Given the description of an element on the screen output the (x, y) to click on. 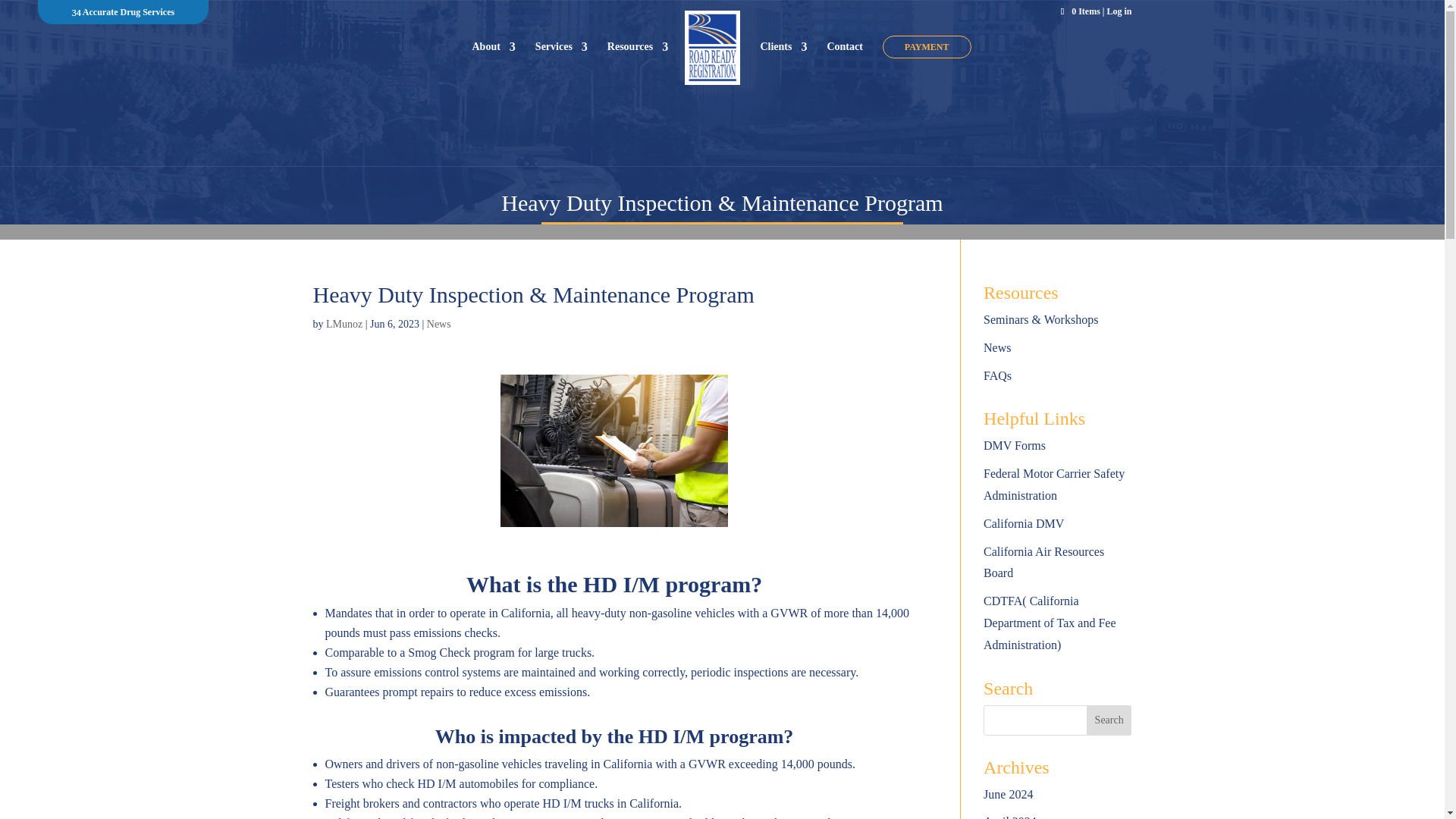
Services (561, 74)
0 Items (1081, 10)
Log in (1118, 10)
About (493, 74)
PAYMENT (926, 47)
Resources (637, 74)
Posts by LMunoz (344, 324)
Clients (783, 74)
Search (1109, 720)
Contact (844, 74)
Accurate Drug Services (128, 11)
